Given the description of an element on the screen output the (x, y) to click on. 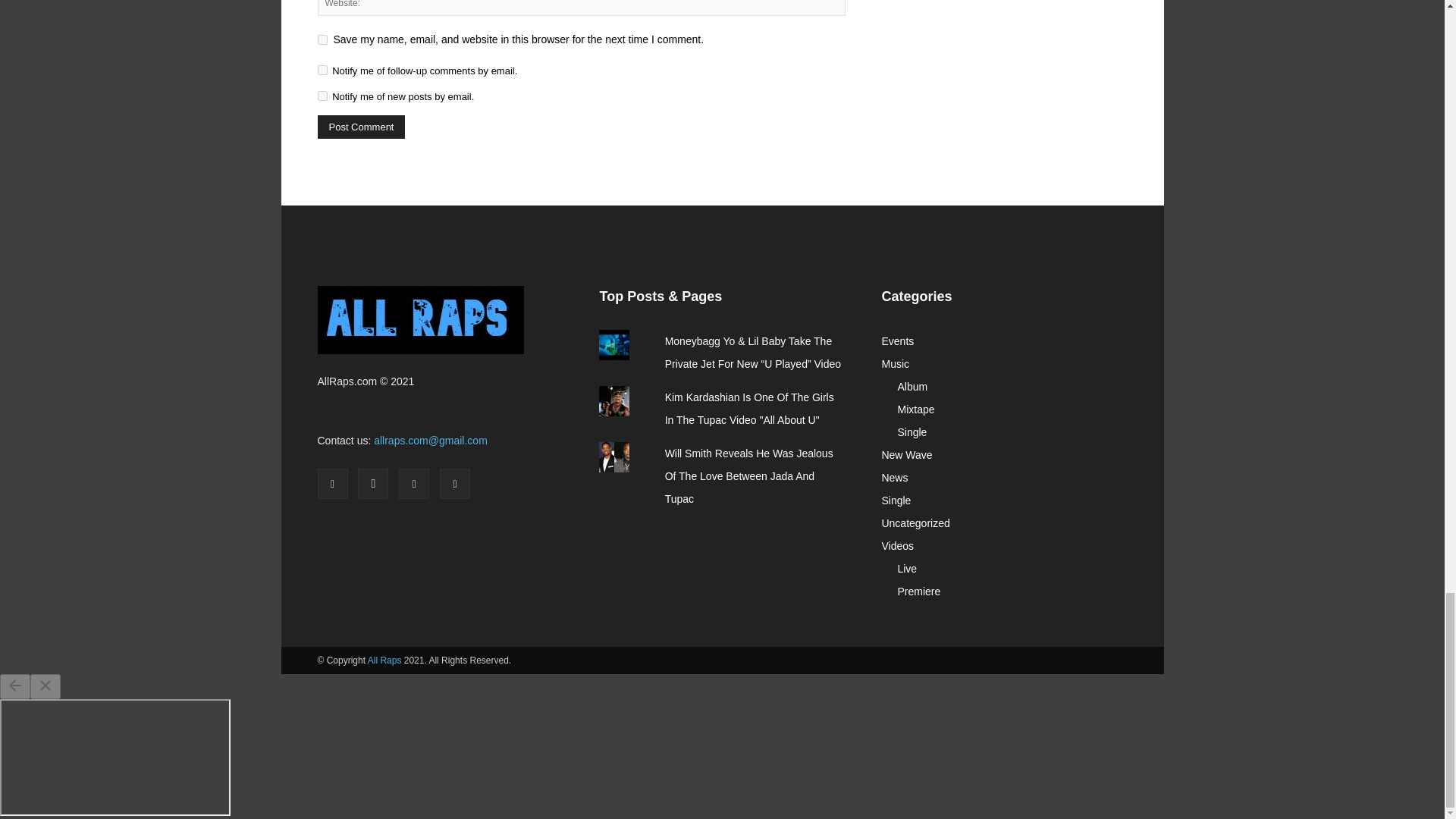
subscribe (321, 70)
subscribe (321, 95)
Post Comment (360, 126)
yes (321, 40)
